Given the description of an element on the screen output the (x, y) to click on. 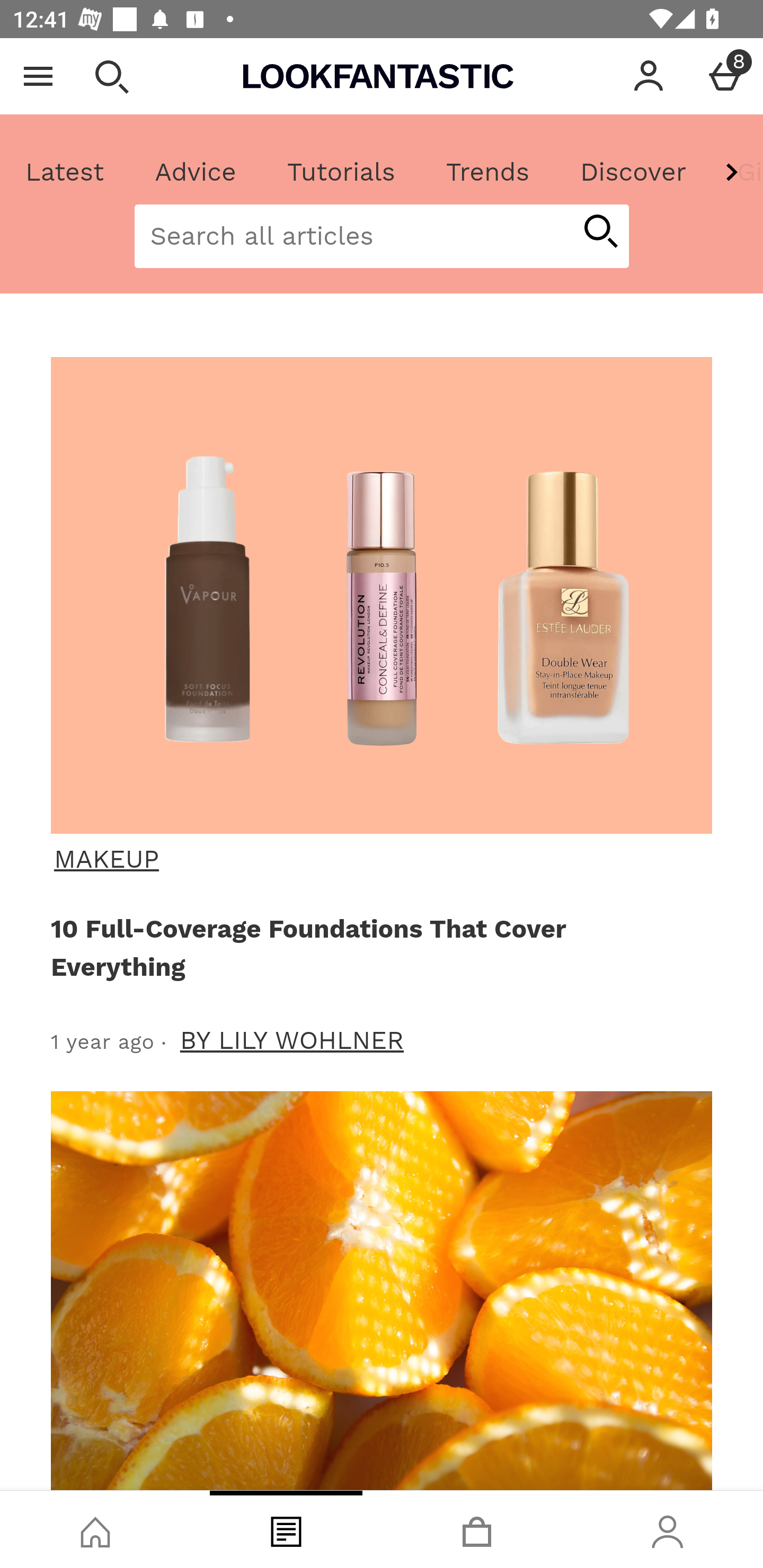
Open Menu (38, 75)
Open search (111, 75)
Account (648, 75)
Basket Menu (724, 75)
Latest (65, 172)
Advice (195, 172)
Tutorials (340, 172)
Trends (486, 172)
Discover (632, 172)
Gift Guide (736, 172)
start article search (599, 232)
MAKEUP (379, 858)
10 Full-Coverage Foundations That Cover Everything (377, 947)
BY LILY WOHLNER (292, 1040)
Shop, tab, 1 of 4 (95, 1529)
Blog, tab, 2 of 4 (285, 1529)
Basket, tab, 3 of 4 (476, 1529)
Account, tab, 4 of 4 (667, 1529)
